Given the description of an element on the screen output the (x, y) to click on. 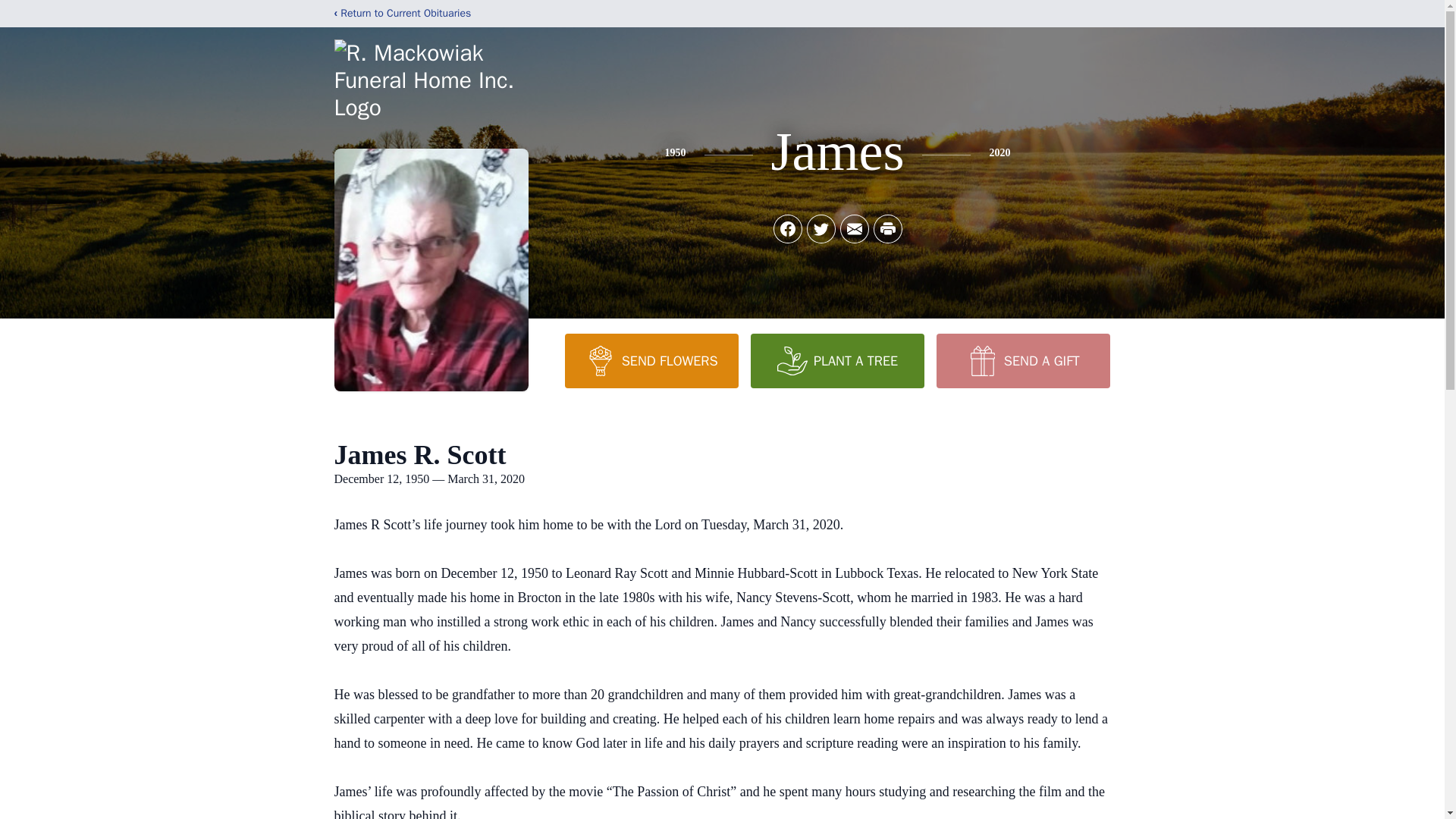
PLANT A TREE (837, 360)
SEND FLOWERS (651, 360)
SEND A GIFT (1022, 360)
